Given the description of an element on the screen output the (x, y) to click on. 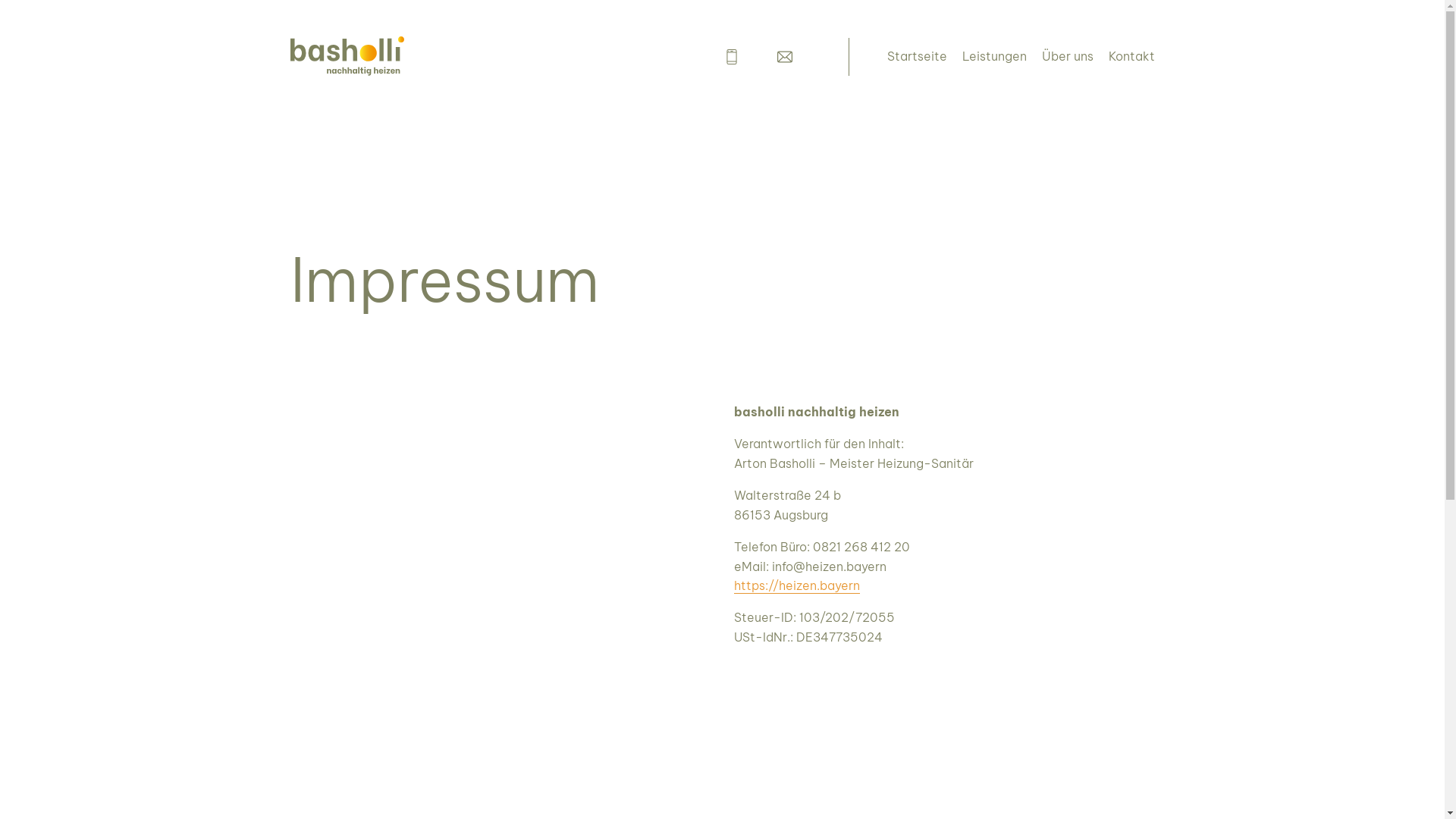
Kontakt Element type: text (1131, 69)
https://heizen.bayern Element type: text (796, 585)
Startseite Element type: text (917, 69)
Leistungen Element type: text (993, 69)
